Given the description of an element on the screen output the (x, y) to click on. 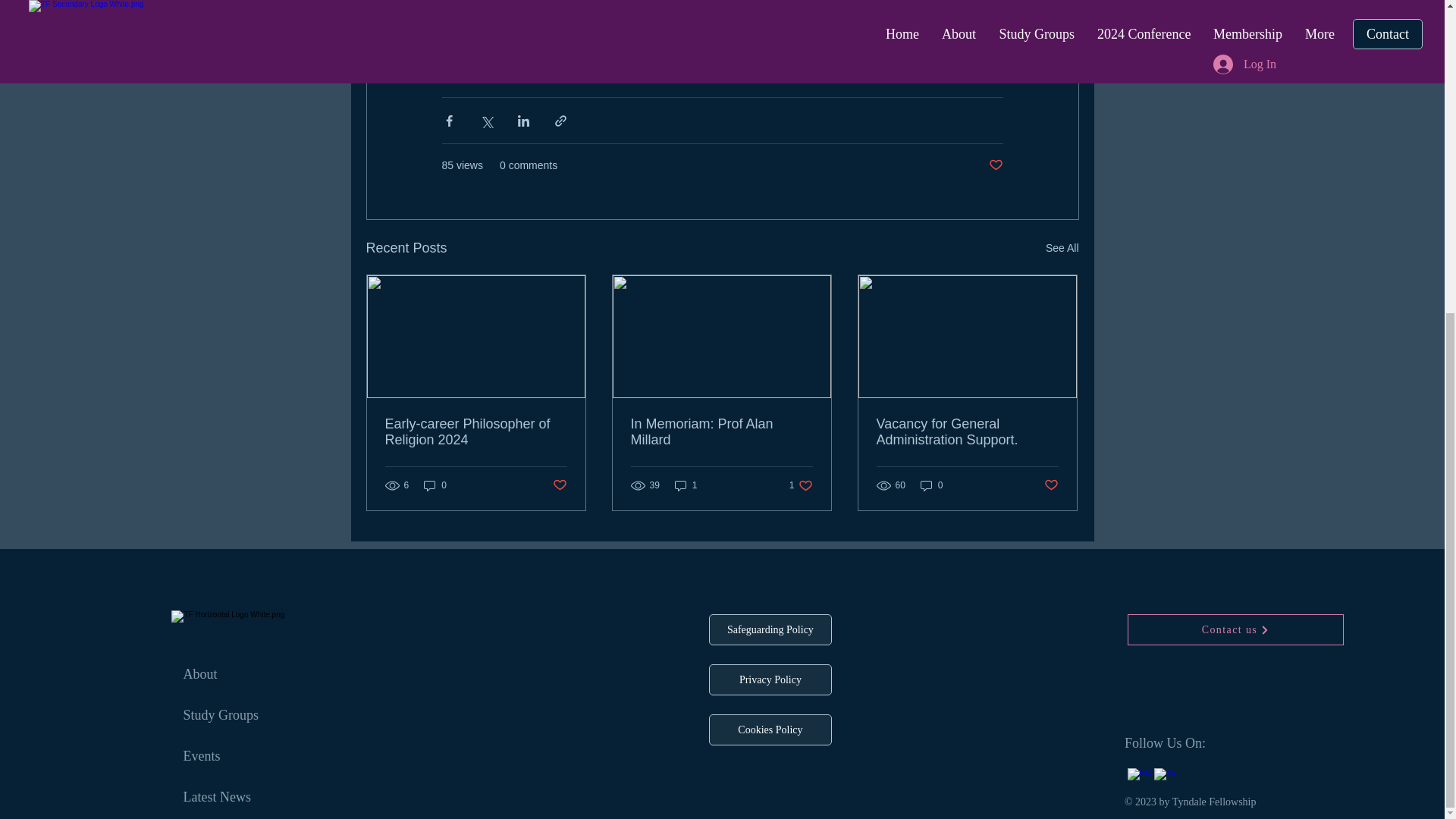
In Memoriam: Prof Alan Millard (721, 431)
Post not marked as liked (558, 485)
0 (435, 485)
Philosophy of Religion Study Group page (814, 7)
See All (1061, 248)
1 (685, 485)
Post not marked as liked (995, 165)
Early-career Philosopher of Religion 2024 (476, 431)
